Given the description of an element on the screen output the (x, y) to click on. 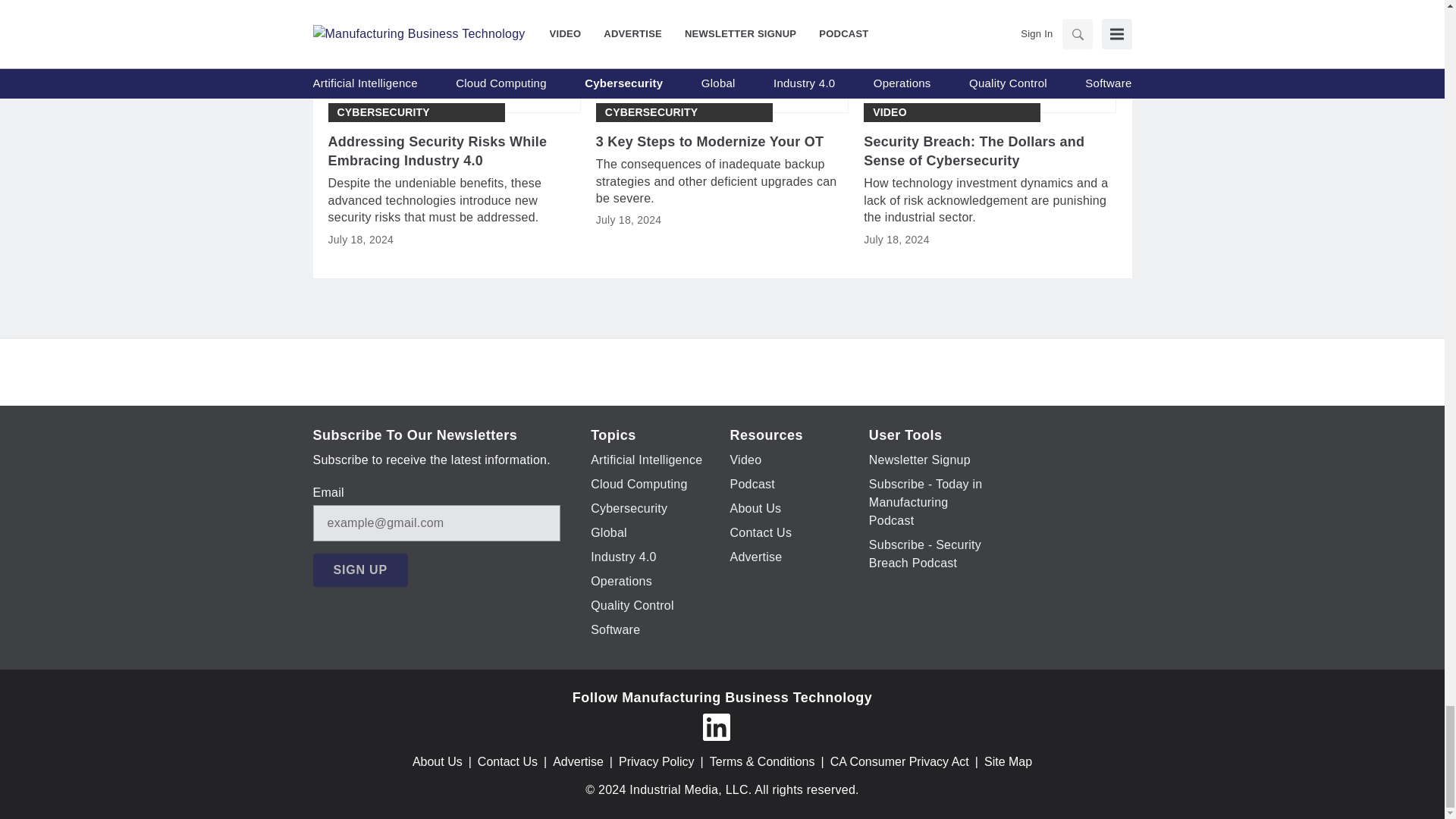
LinkedIn icon (715, 727)
